Given the description of an element on the screen output the (x, y) to click on. 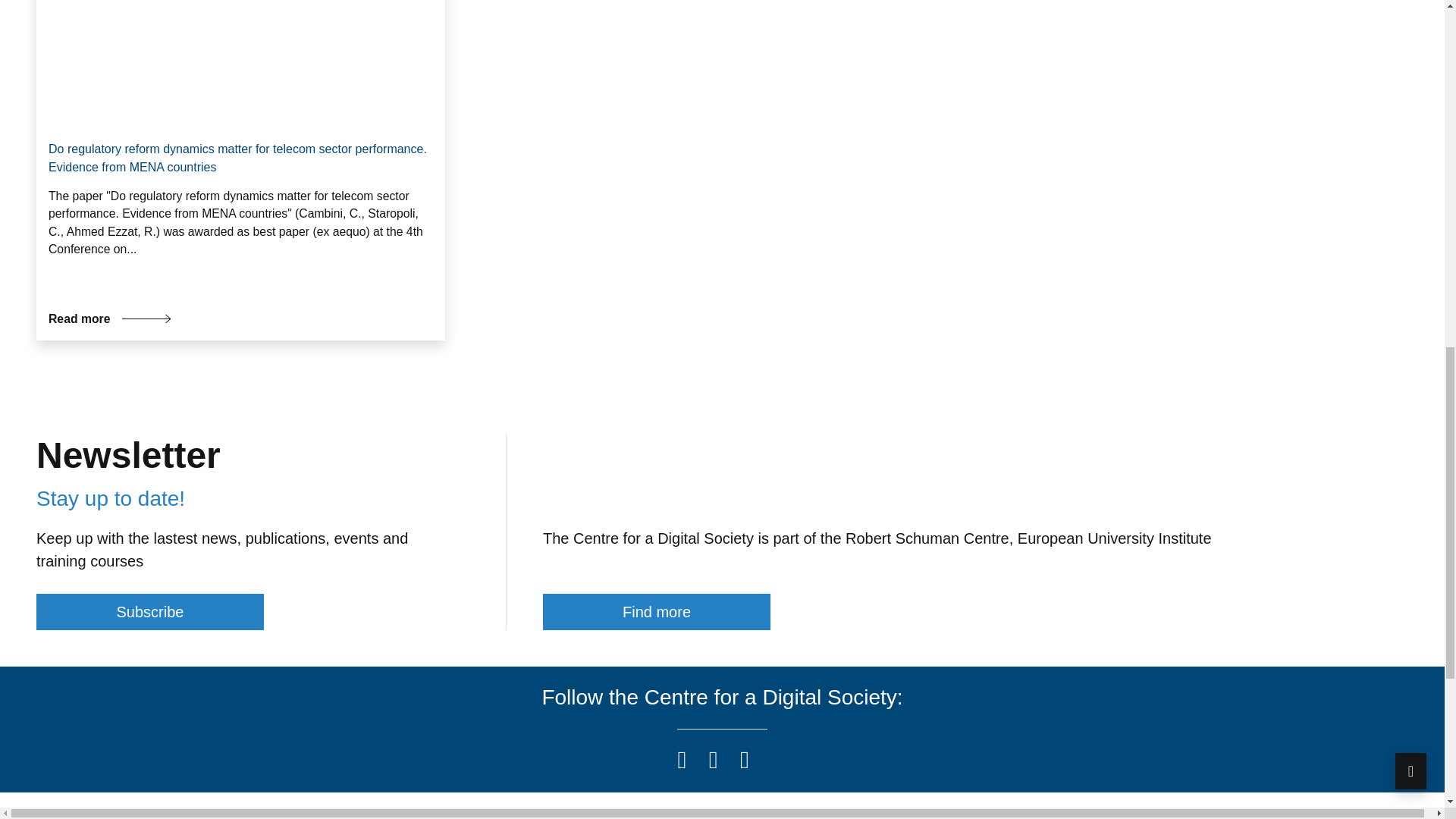
Subscribe (149, 611)
Read more (109, 318)
